Given the description of an element on the screen output the (x, y) to click on. 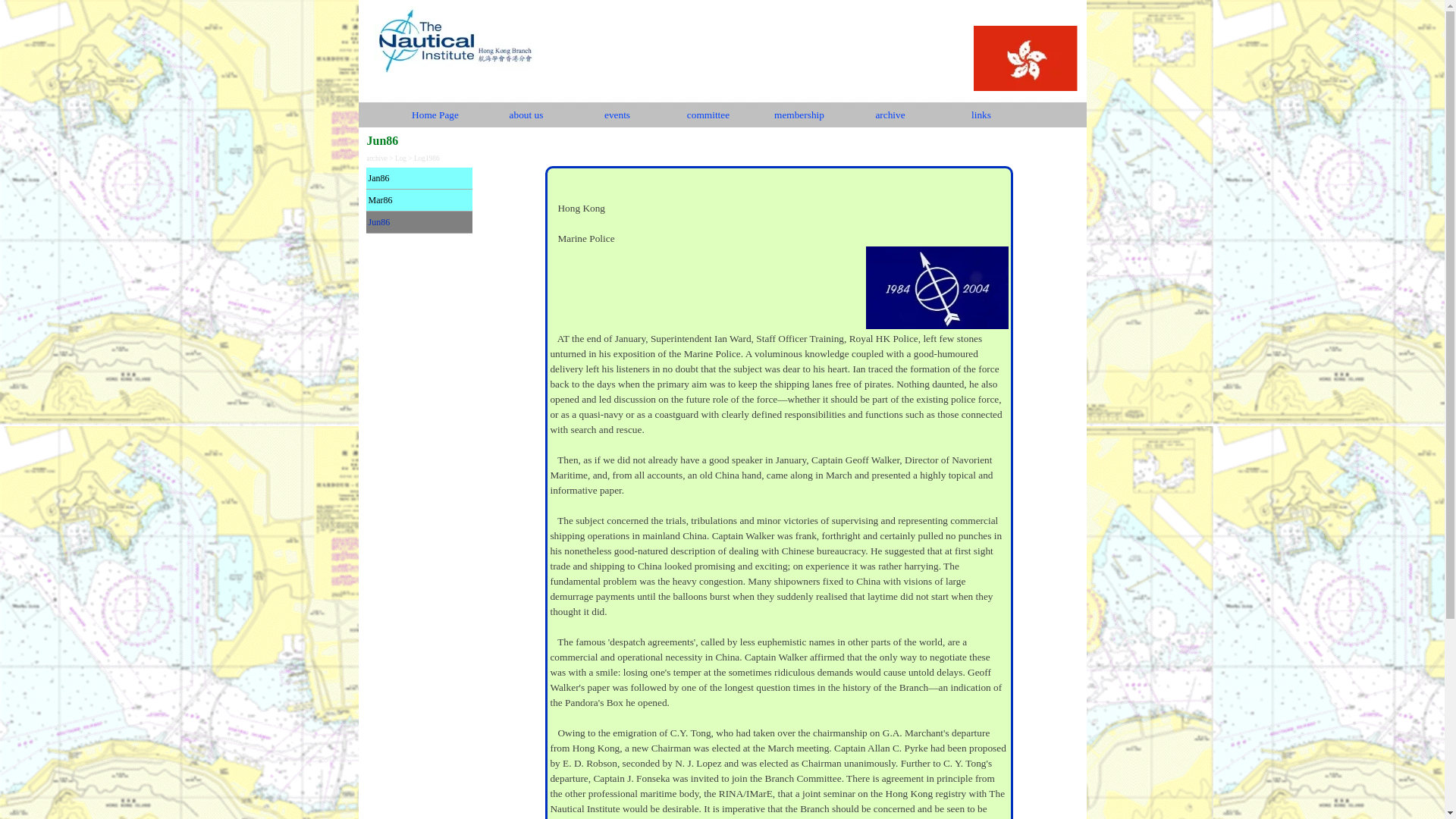
Jan86 (419, 178)
membership (799, 114)
committee (707, 114)
logo (453, 38)
about us (525, 114)
Home Page (435, 114)
Mar86 (419, 199)
links (981, 114)
Jun86 (419, 221)
flag (1025, 60)
